Given the description of an element on the screen output the (x, y) to click on. 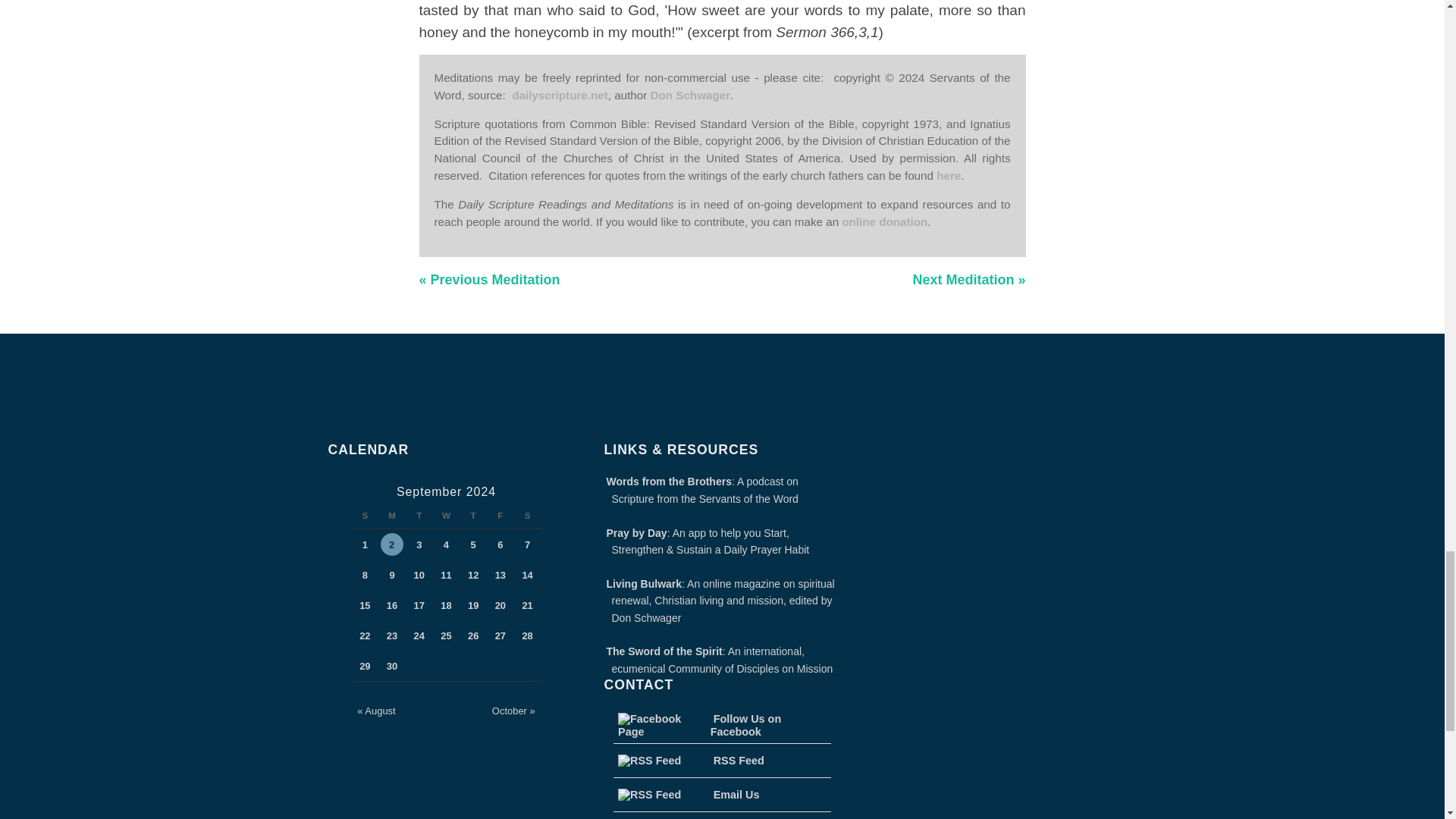
Don Schwager (690, 94)
online donation (884, 221)
here (948, 174)
dailyscripture.net (560, 94)
